Given the description of an element on the screen output the (x, y) to click on. 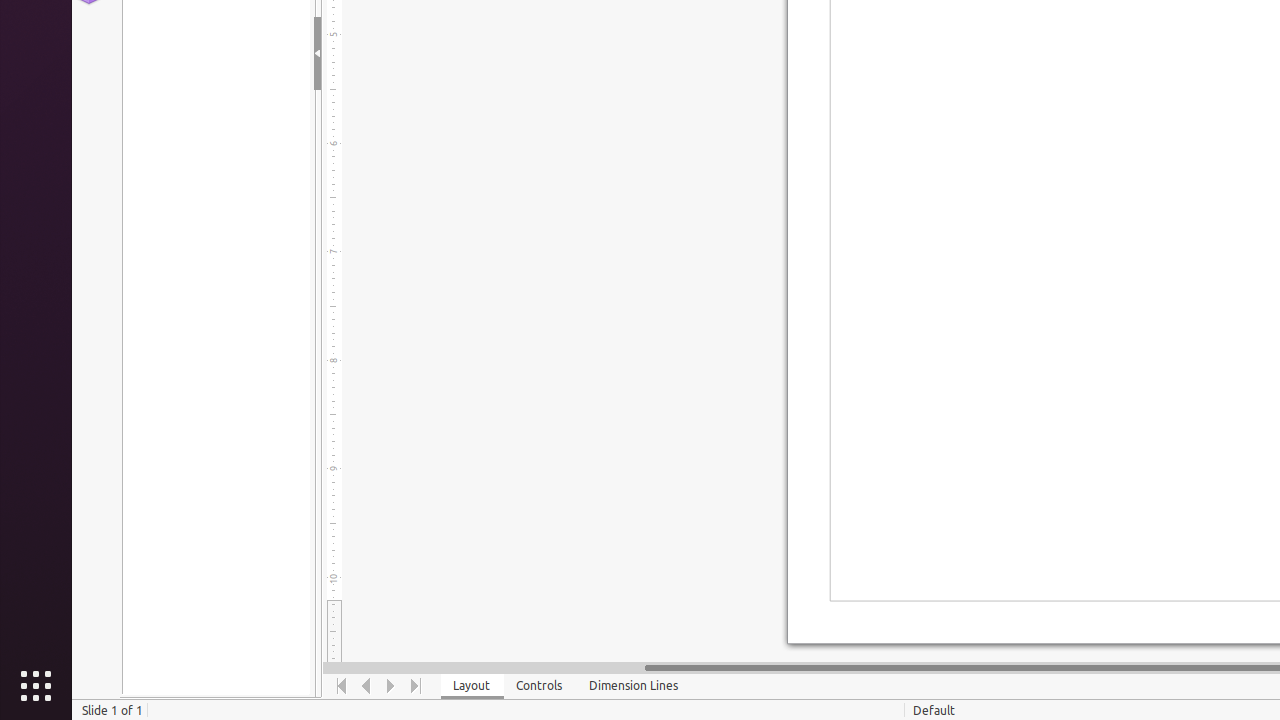
Dimension Lines Element type: page-tab (634, 686)
Controls Element type: page-tab (540, 686)
Move Right Element type: push-button (391, 686)
